Given the description of an element on the screen output the (x, y) to click on. 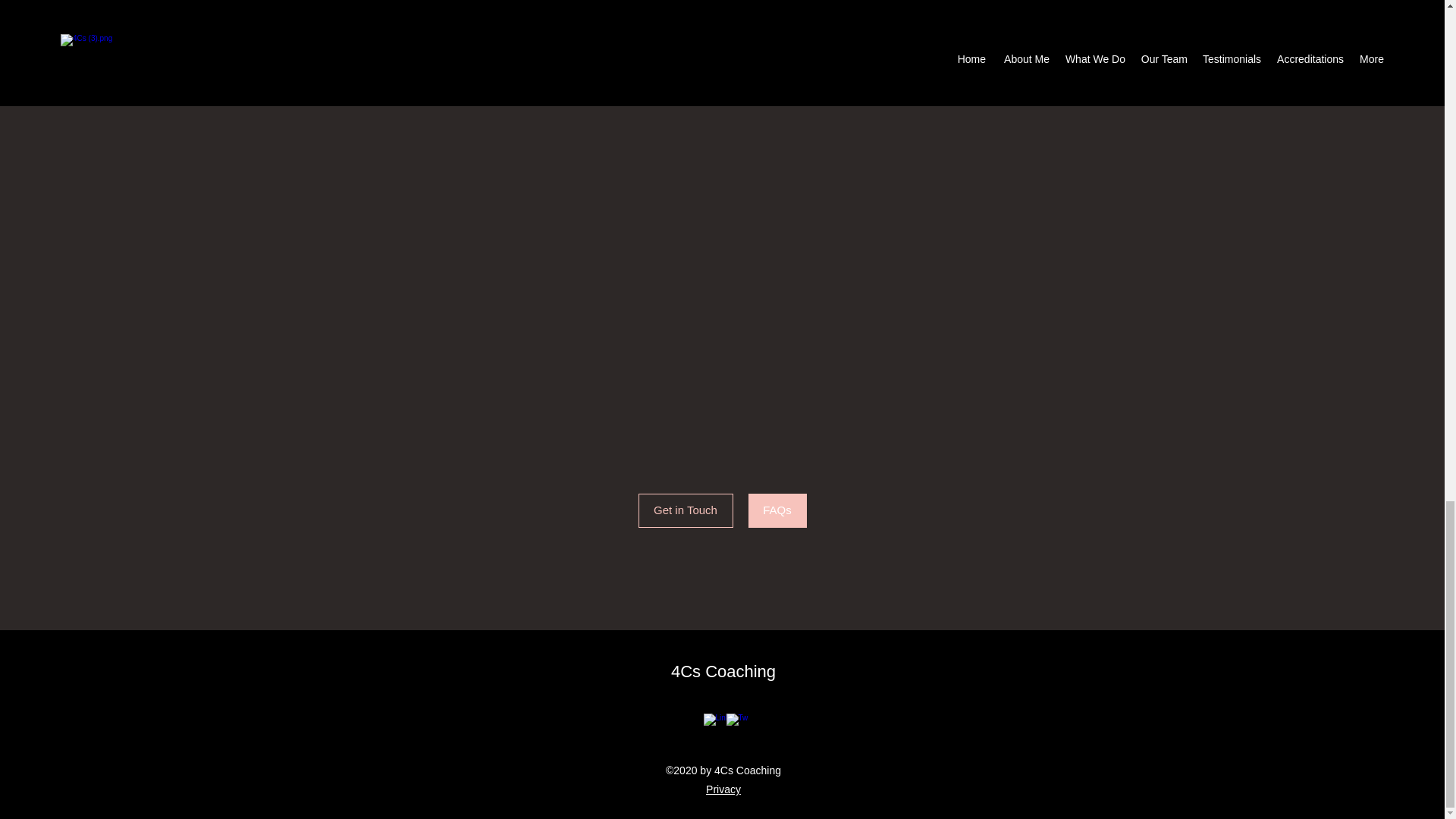
Get in Touch (686, 510)
Privacy (723, 788)
FAQs (777, 510)
Get in Touch (412, 7)
4Cs Coaching (723, 670)
